Given the description of an element on the screen output the (x, y) to click on. 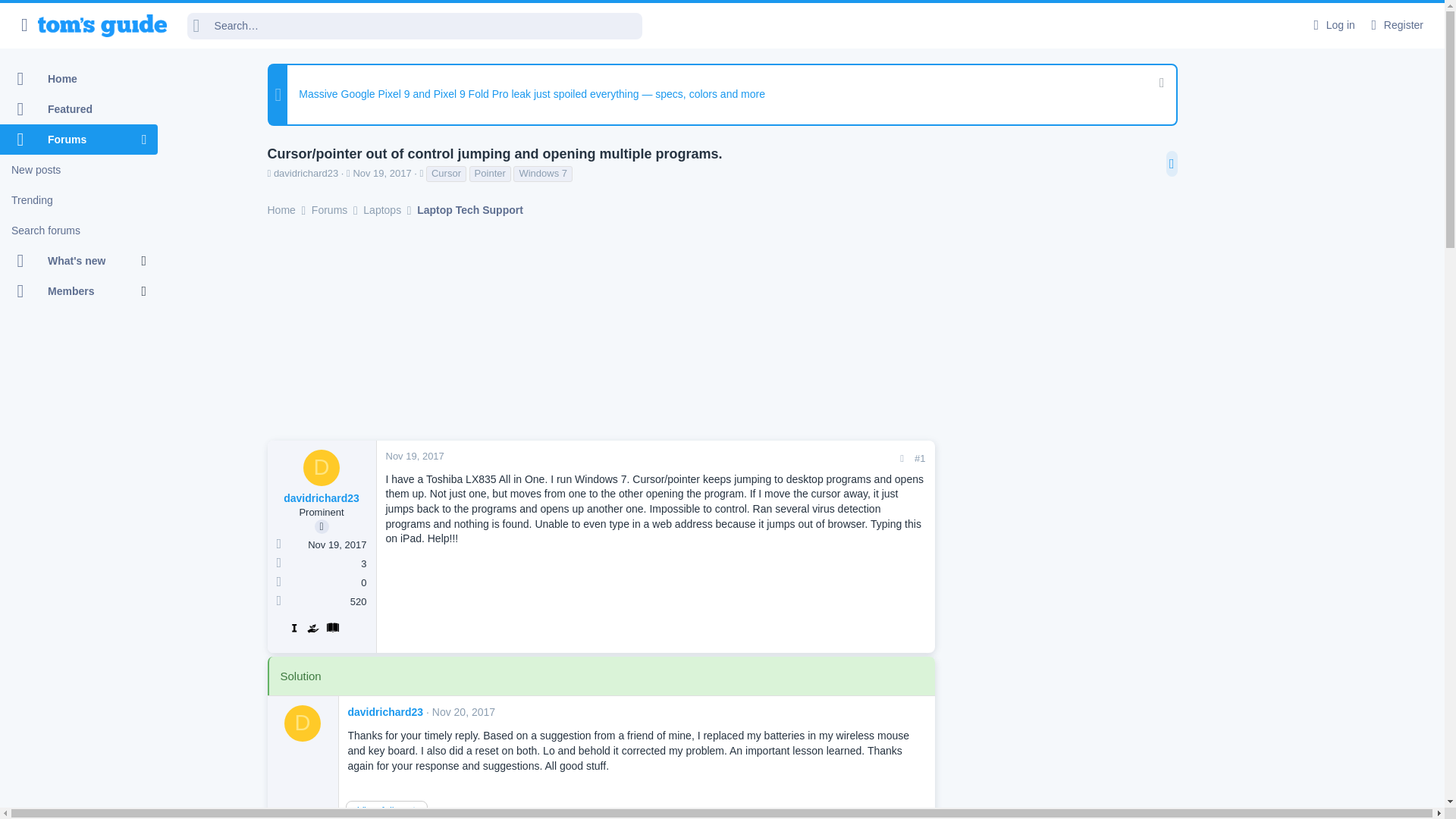
Log in (1332, 24)
Original poster (321, 526)
Nov 19, 2017 at 9:12 PM (381, 173)
Register (1395, 24)
